Given the description of an element on the screen output the (x, y) to click on. 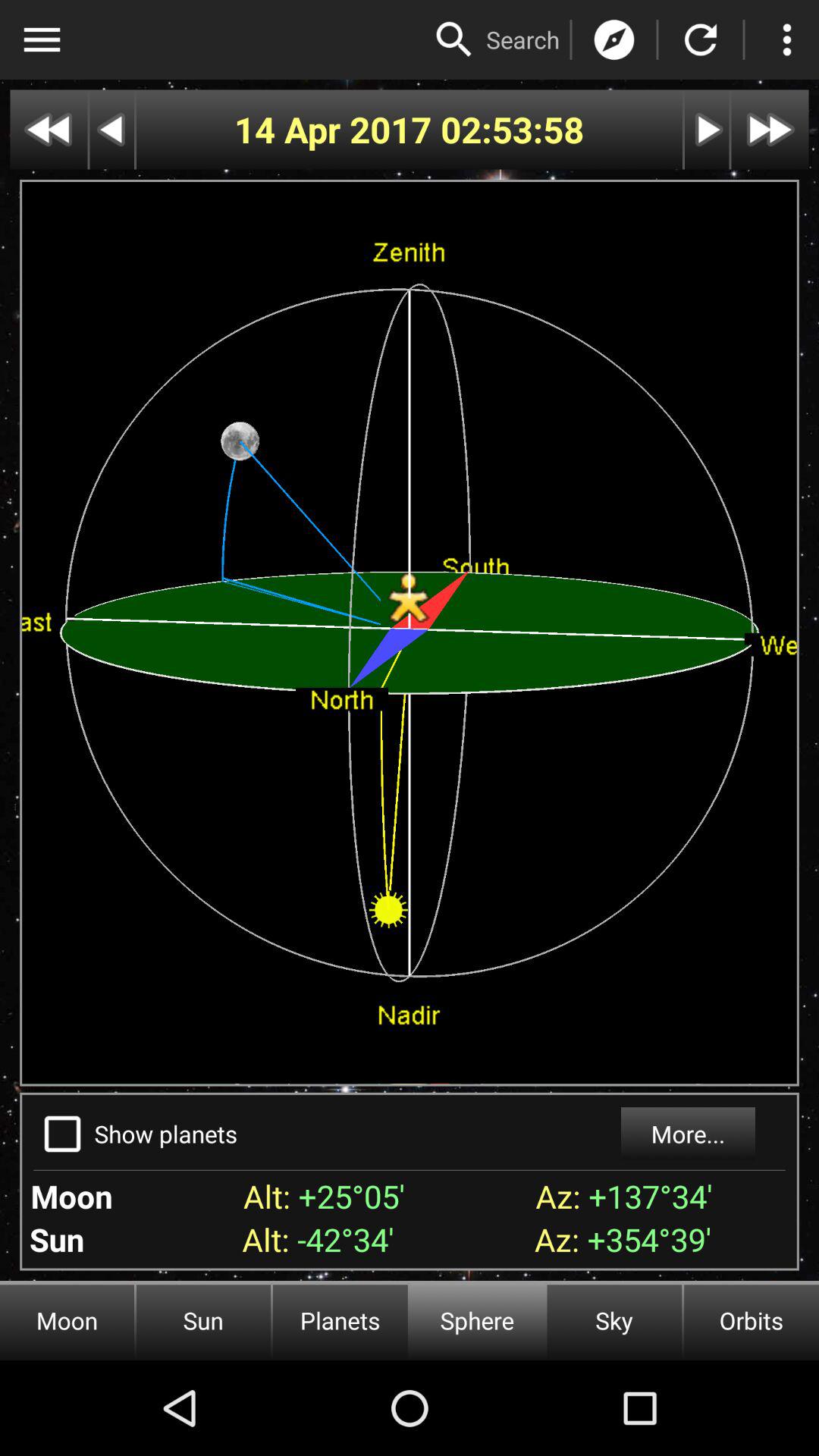
choose the icon to the left of show planets (62, 1133)
